Given the description of an element on the screen output the (x, y) to click on. 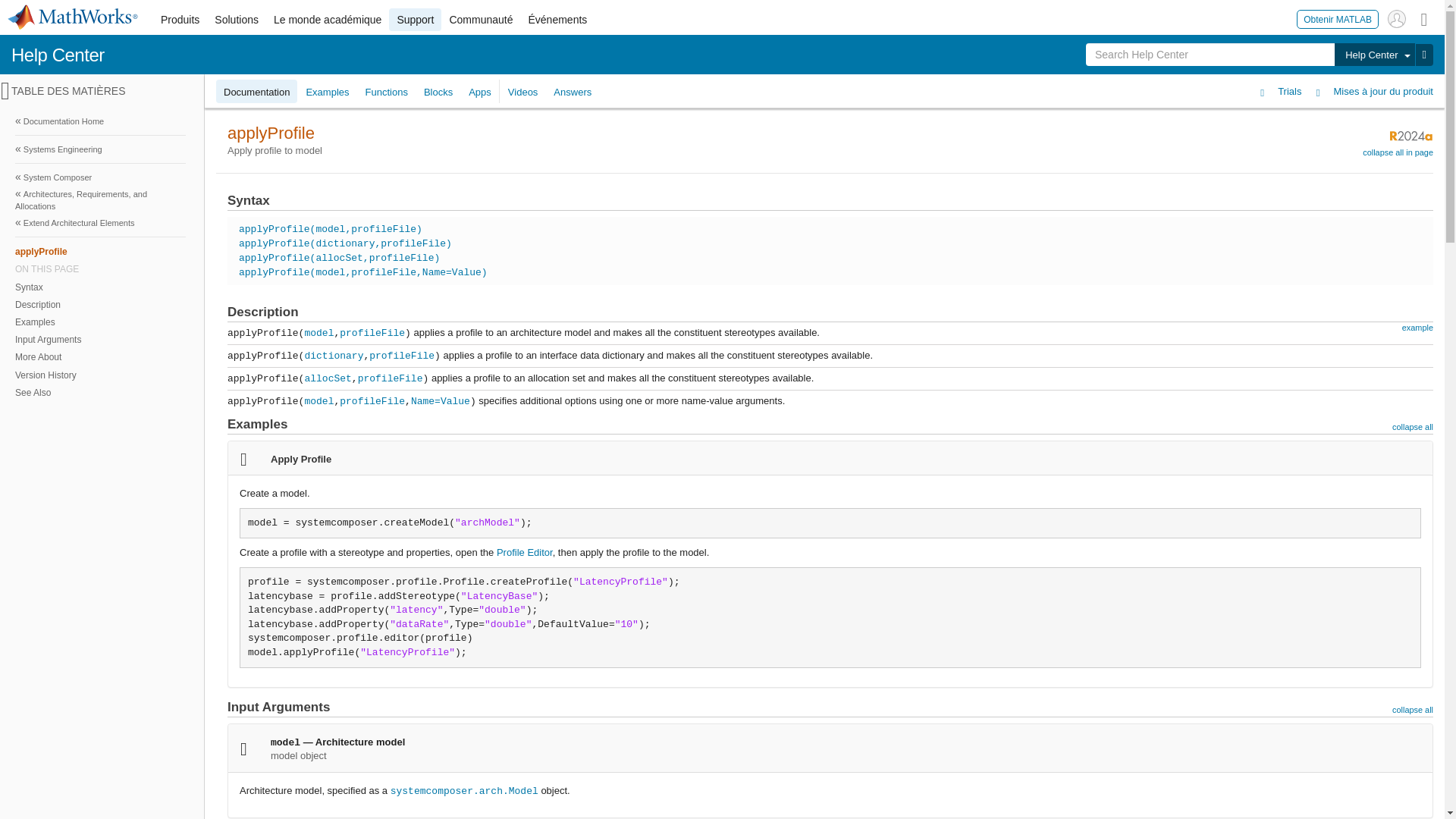
Se connecter (1396, 18)
applyProfile (100, 251)
Matrix Menu (1423, 18)
Produits (179, 19)
ON THIS PAGE (100, 268)
Obtenir MATLAB (1337, 18)
Support (414, 19)
Solutions (236, 19)
